Given the description of an element on the screen output the (x, y) to click on. 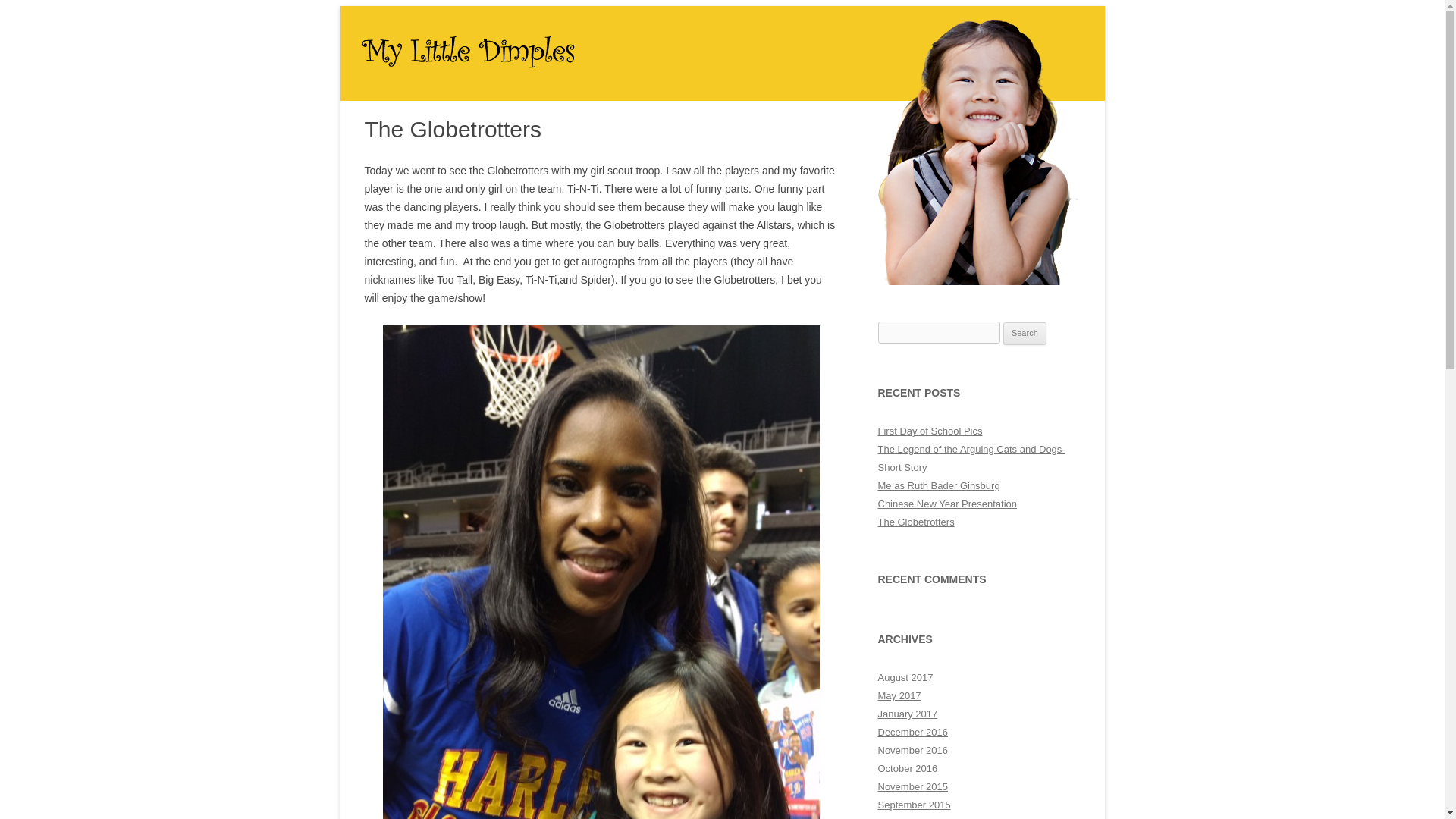
November 2016 (913, 749)
January 2017 (907, 713)
December 2016 (913, 731)
Chinese New Year Presentation (947, 503)
The Legend of the Arguing Cats and Dogs- Short Story (971, 458)
Search (1024, 333)
October 2016 (907, 767)
Me as Ruth Bader Ginsburg (938, 485)
August 2017 (905, 677)
First Day of School Pics (929, 430)
The Globetrotters (916, 521)
January 2015 (907, 818)
September 2015 (913, 804)
November 2015 (913, 786)
May 2017 (899, 695)
